Given the description of an element on the screen output the (x, y) to click on. 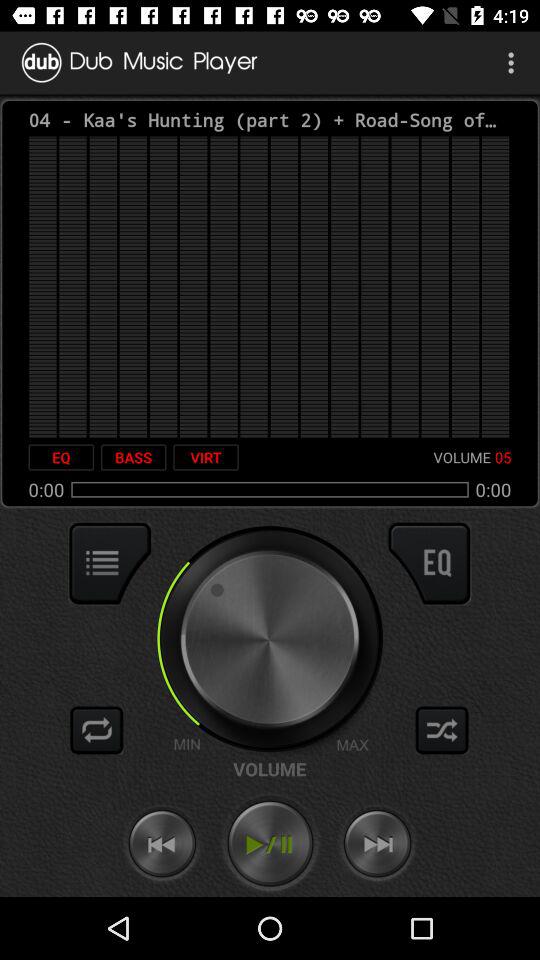
scroll until the  virt  item (205, 457)
